Given the description of an element on the screen output the (x, y) to click on. 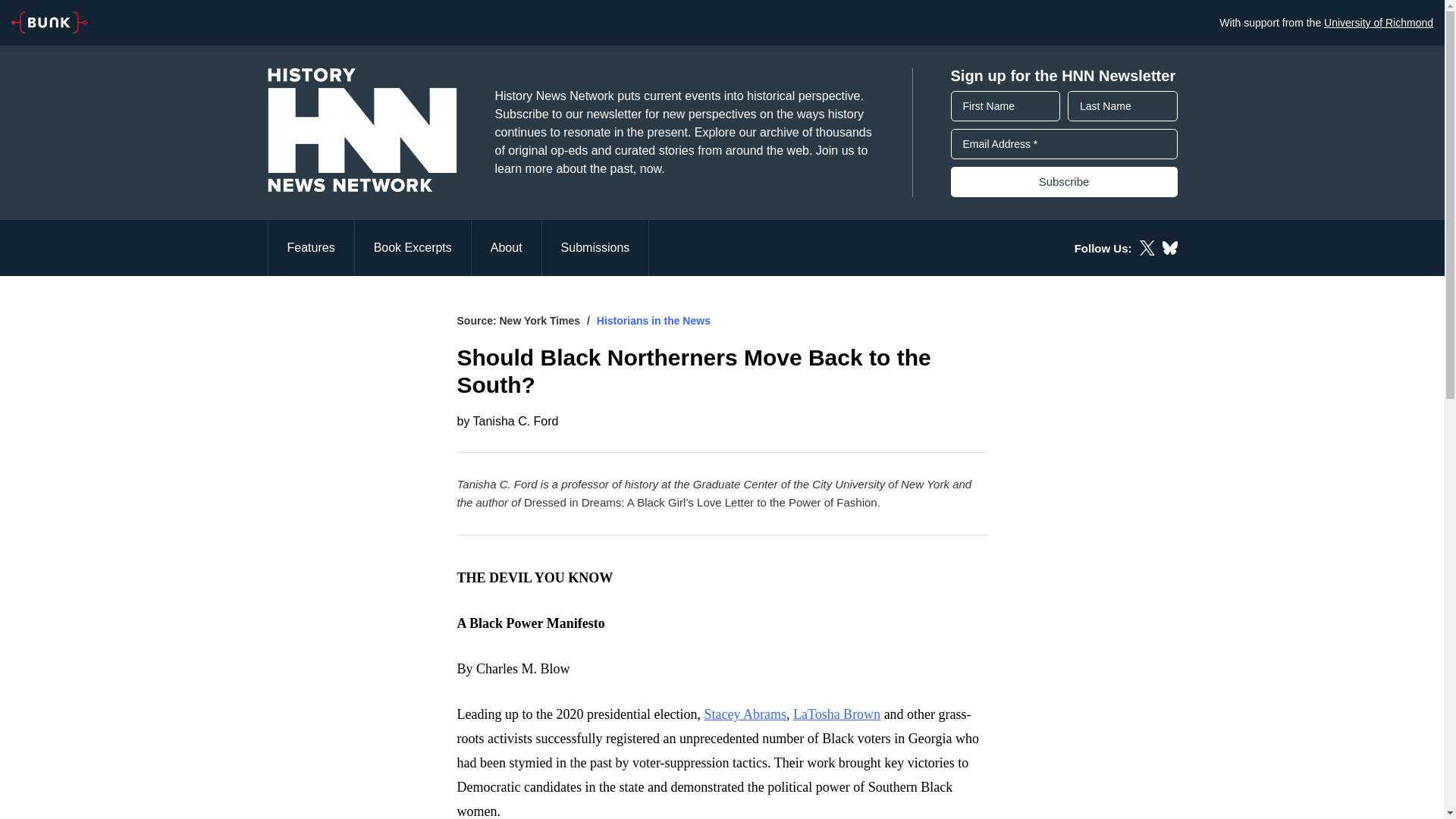
LaTosha Brown (836, 713)
Follow HNN on X, formerly Twitter (1146, 247)
Submissions (595, 248)
Book Excerpts (413, 248)
Stacey Abrams (744, 713)
University of Richmond (1377, 22)
Features (309, 248)
Historians in the News (653, 320)
Subscribe (1063, 182)
Subscribe (1063, 182)
Follow HNN on Bluesky (1168, 247)
About (506, 248)
